Given the description of an element on the screen output the (x, y) to click on. 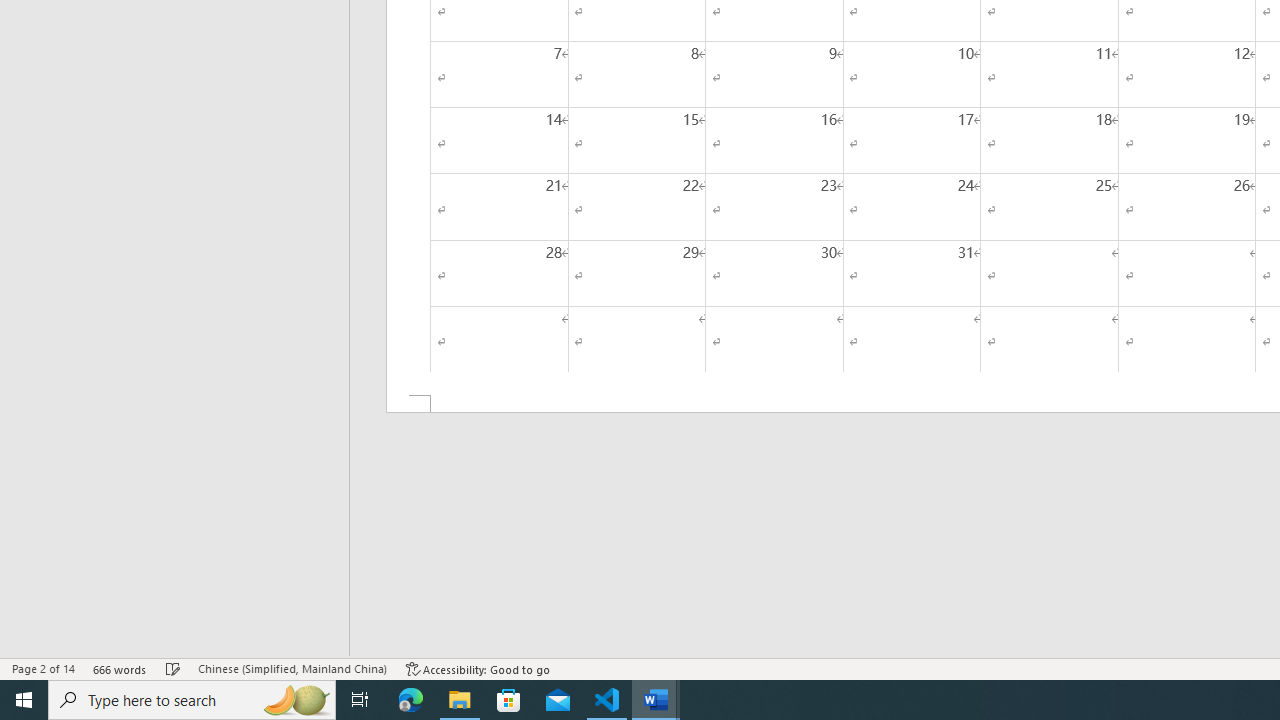
Page Number Page 2 of 14 (43, 668)
